Given the description of an element on the screen output the (x, y) to click on. 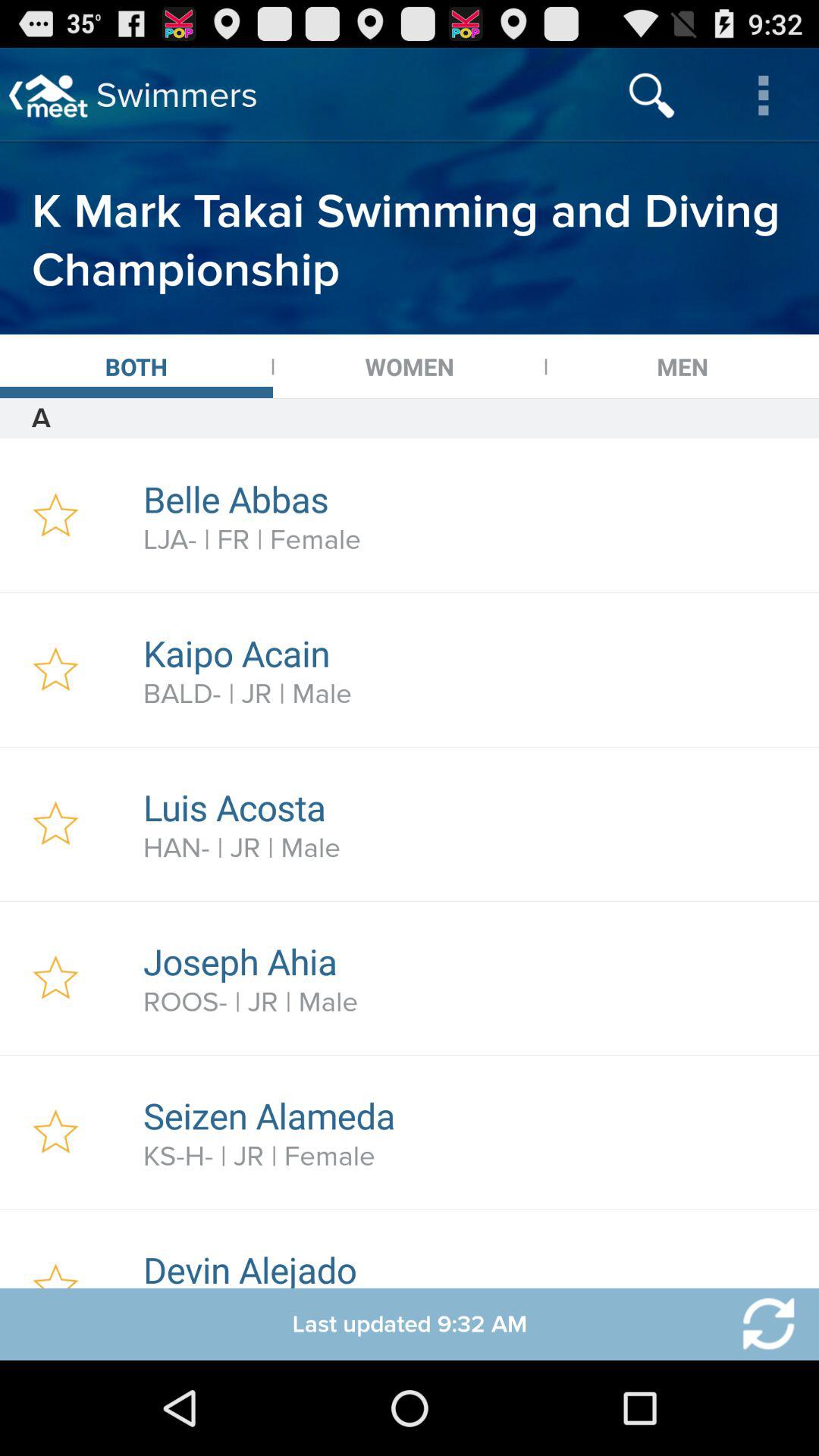
favorite (55, 669)
